Given the description of an element on the screen output the (x, y) to click on. 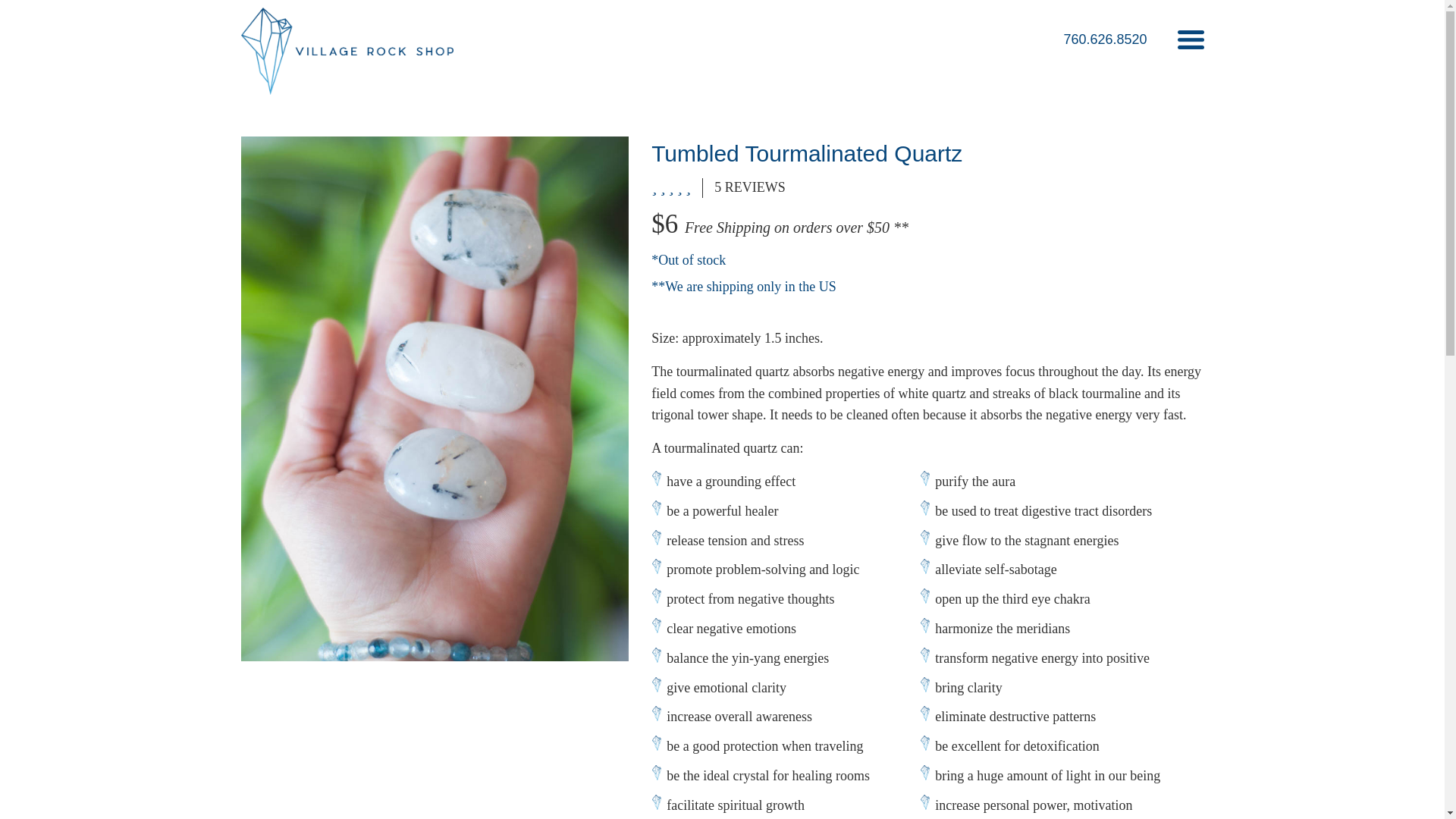
760.626.8520 (1104, 39)
